Given the description of an element on the screen output the (x, y) to click on. 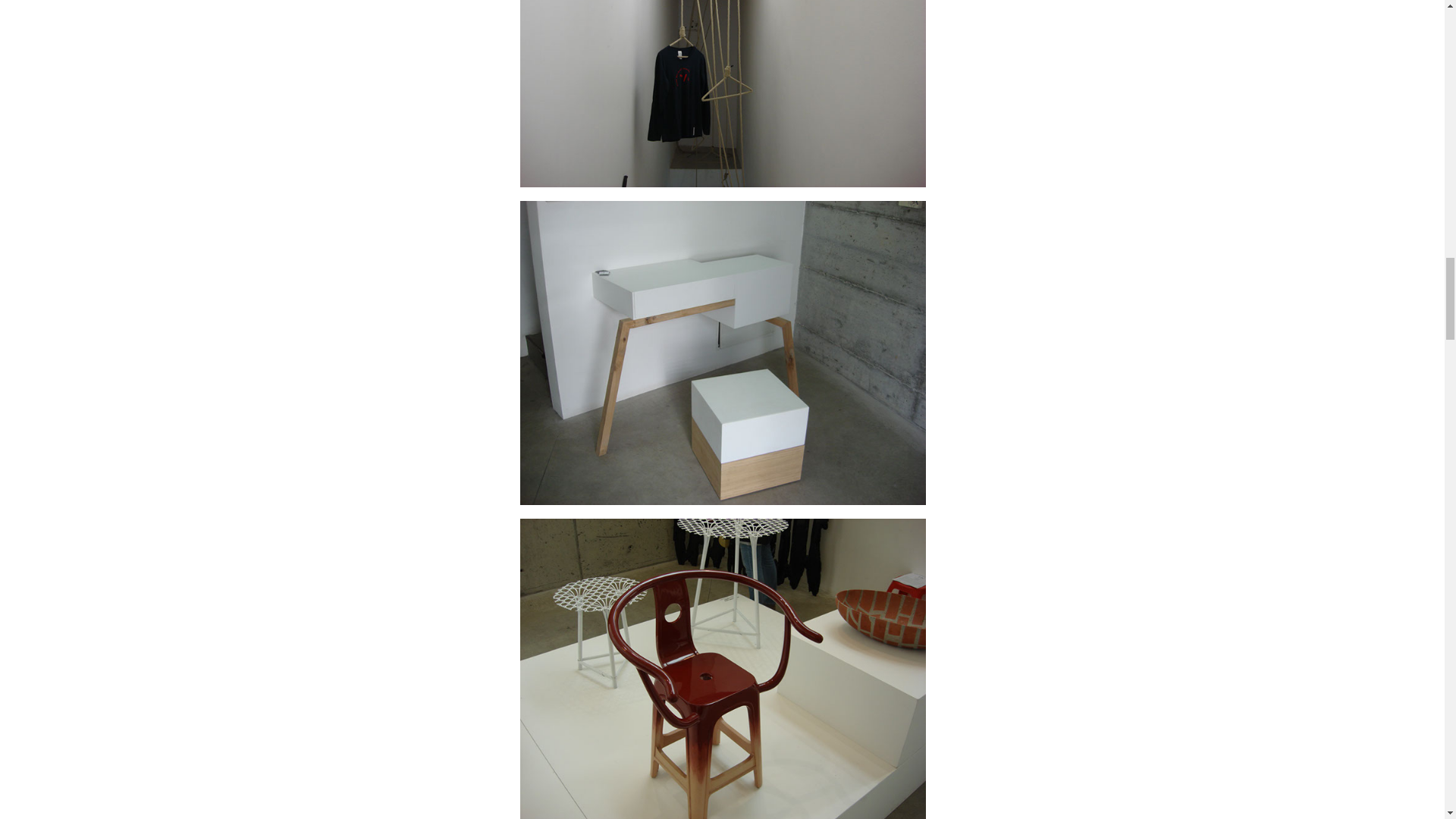
G2Art inspiration image 7 (722, 93)
G2Art inspiration image 8 (722, 352)
G2Art inspiration image 9 (722, 668)
